Given the description of an element on the screen output the (x, y) to click on. 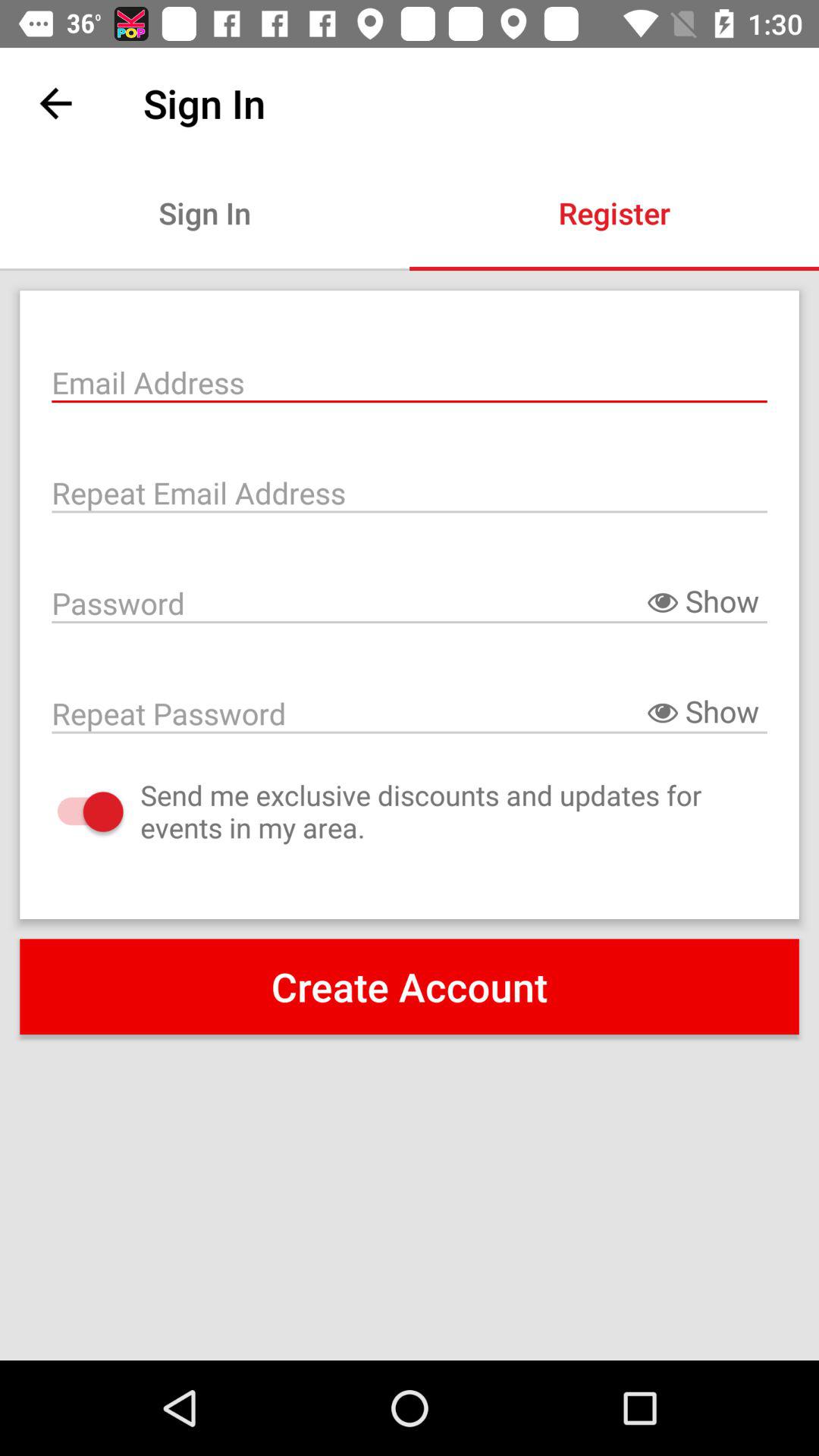
click register item (614, 212)
